Given the description of an element on the screen output the (x, y) to click on. 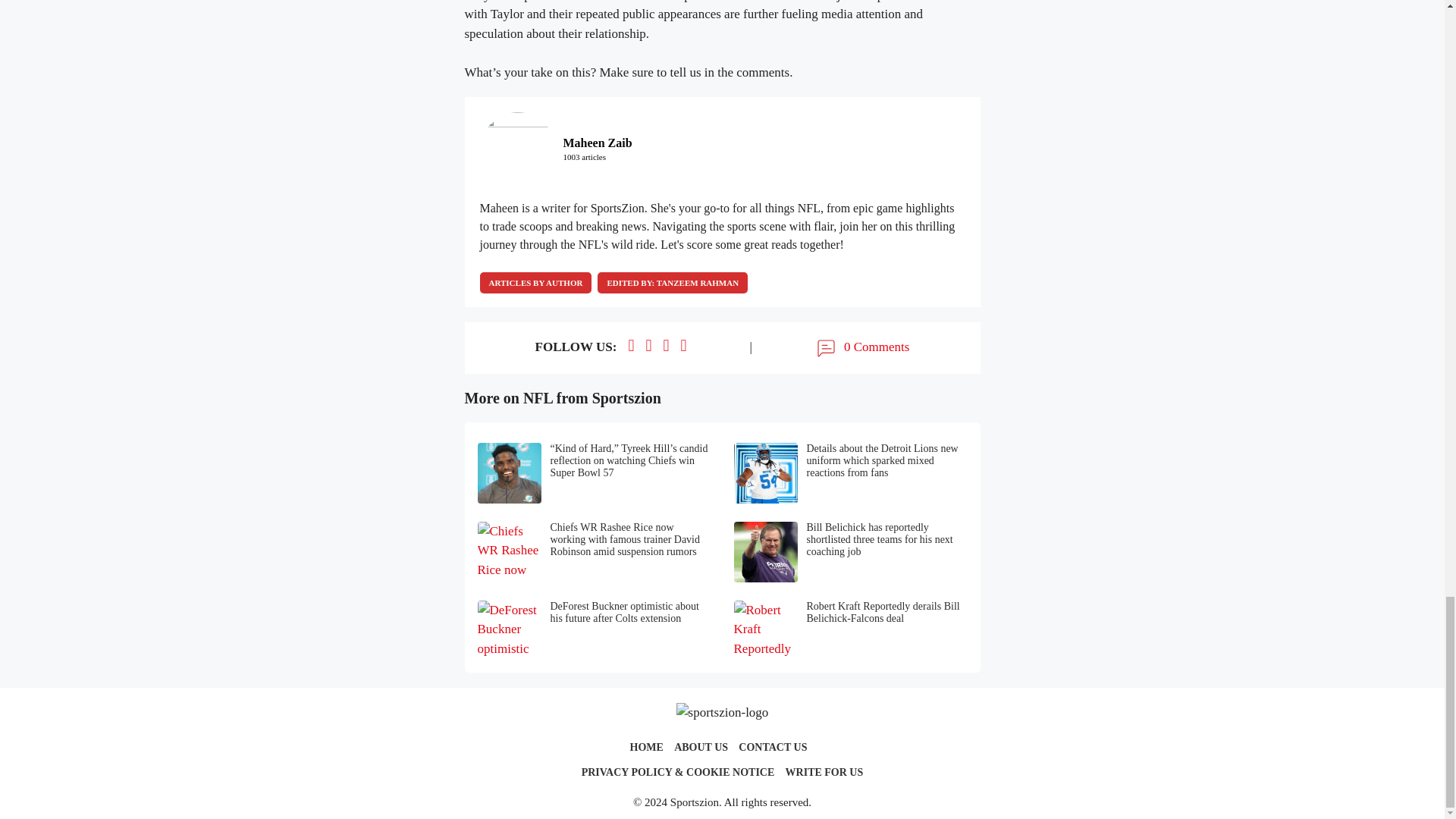
ARTICLES BY AUTHOR (535, 282)
0 Comments (861, 347)
EDITED BY: TANZEEM RAHMAN (672, 282)
Robert Kraft Reportedly derails Bill Belichick-Falcons deal (850, 630)
